Given the description of an element on the screen output the (x, y) to click on. 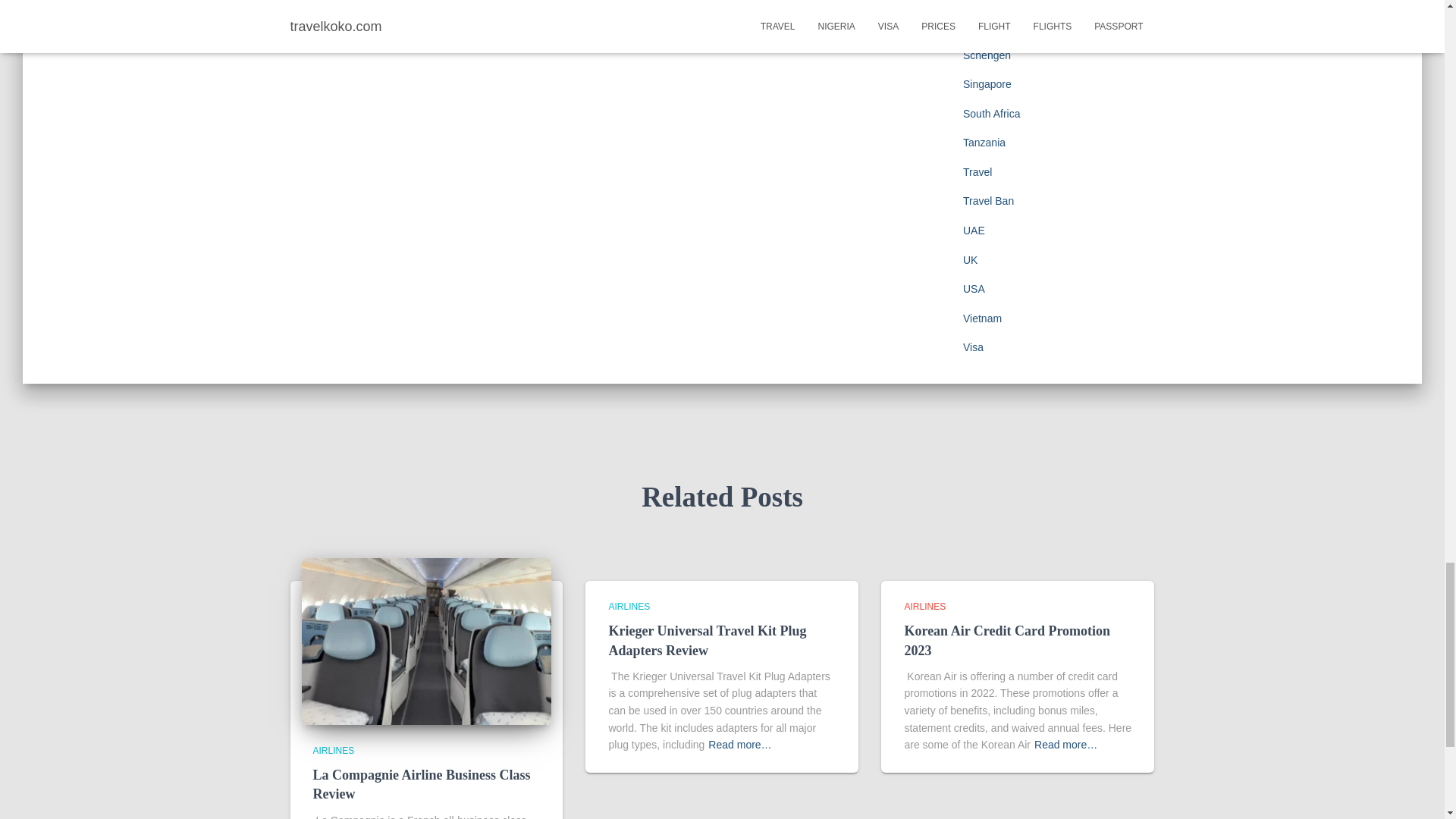
Krieger Universal Travel Kit Plug Adapters Review (707, 640)
Korean Air Credit Card Promotion 2023 (1006, 640)
La Compagnie Airline Business Class Review (421, 784)
View all posts in Airlines (628, 606)
View all posts in Airlines (333, 750)
View all posts in Airlines (924, 606)
La Compagnie Airline Business Class Review (426, 640)
